Given the description of an element on the screen output the (x, y) to click on. 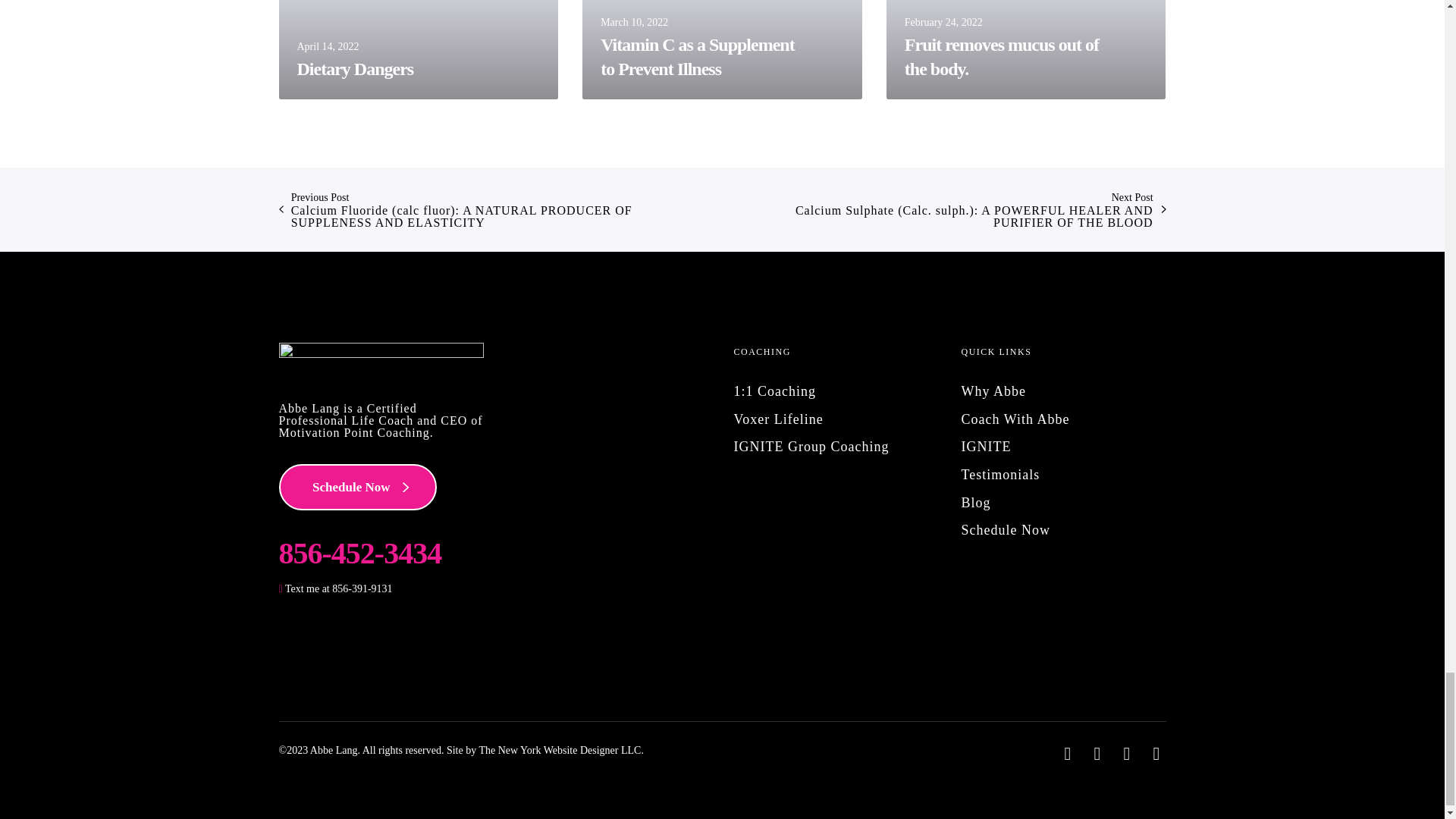
Vitamin C as a Supplement to Prevent Illness (721, 49)
Fruit removes mucus out of the body. (1026, 49)
Dietary Dangers (419, 49)
